Given the description of an element on the screen output the (x, y) to click on. 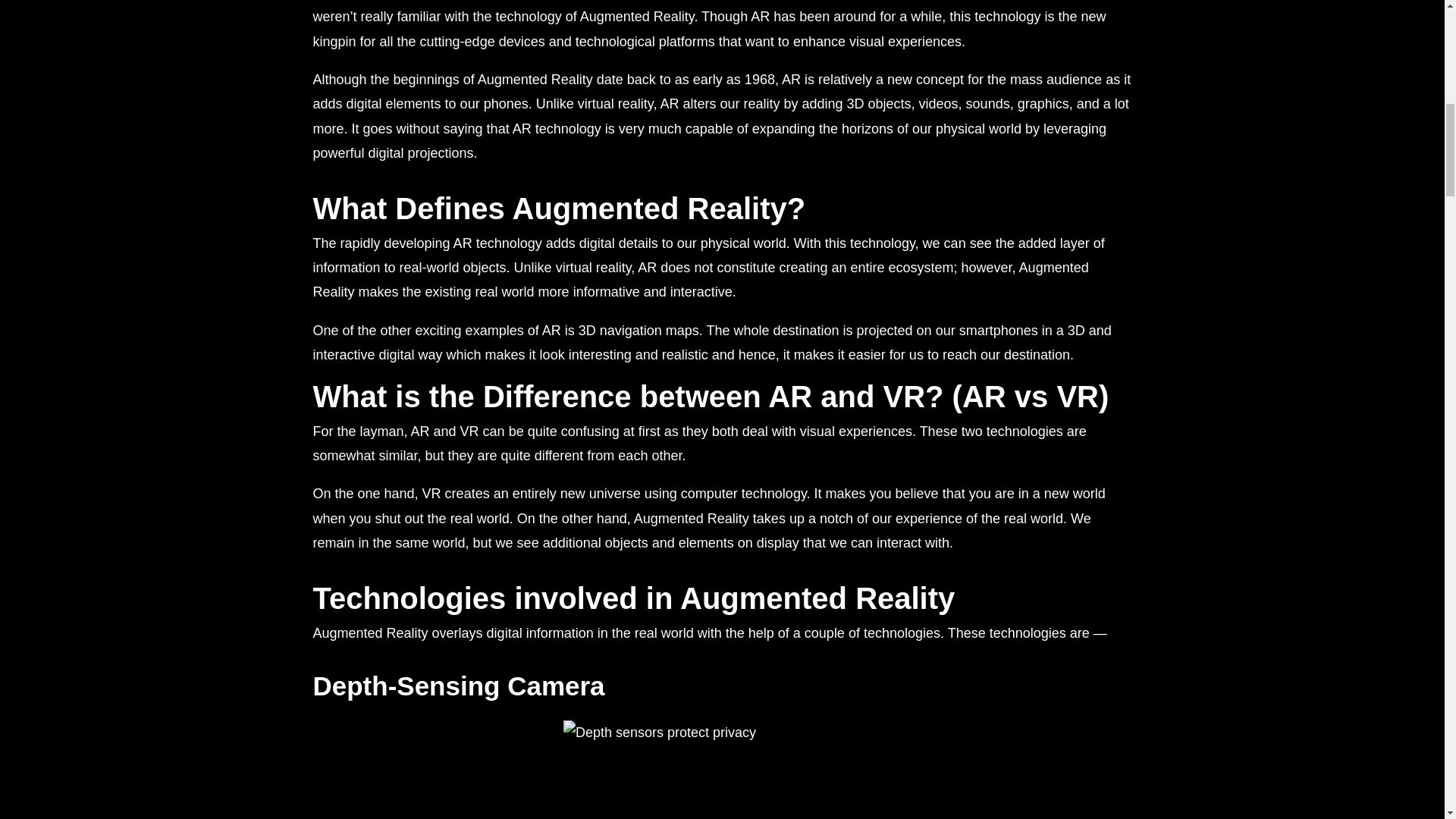
Augmented Reality for Dummies 1 (721, 769)
